Given the description of an element on the screen output the (x, y) to click on. 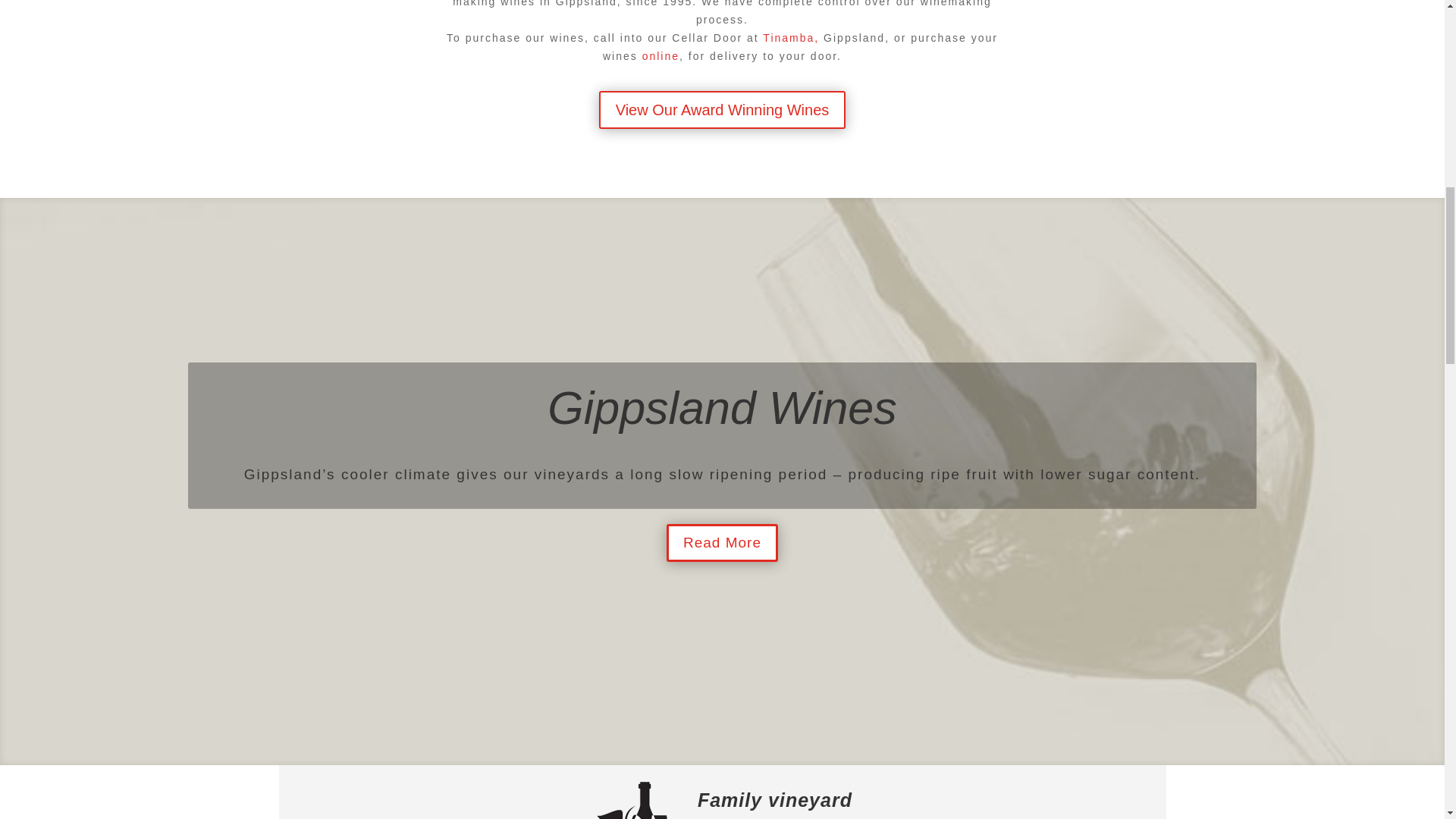
a, (813, 37)
Read More (721, 557)
View Our Award Winning Wines (721, 109)
online (660, 55)
Tinamb (783, 37)
Gippsland Wines (721, 424)
